Given the description of an element on the screen output the (x, y) to click on. 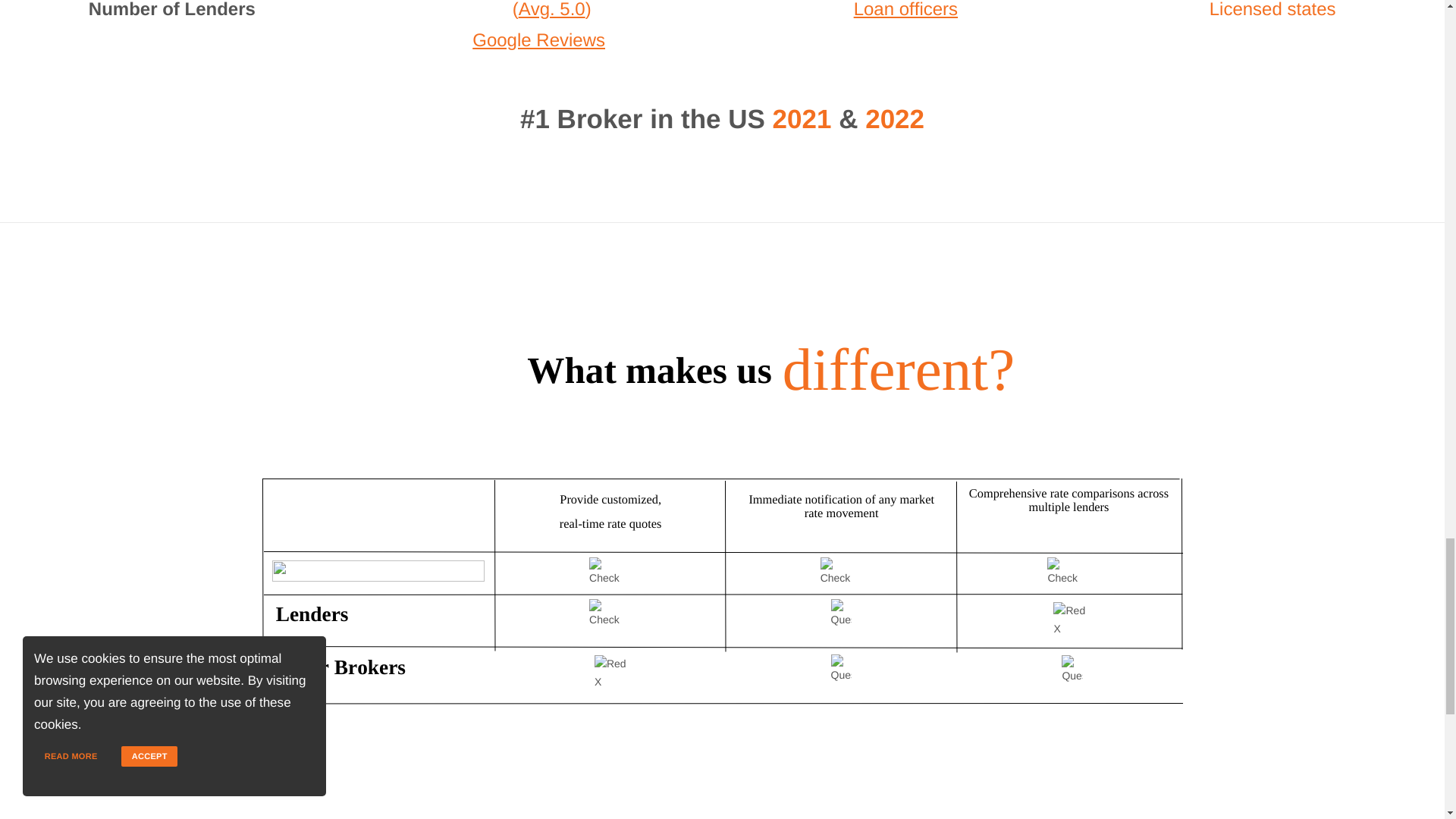
Loan officers (905, 9)
2021 (802, 119)
Licensed states (1272, 9)
2022 (894, 119)
